Given the description of an element on the screen output the (x, y) to click on. 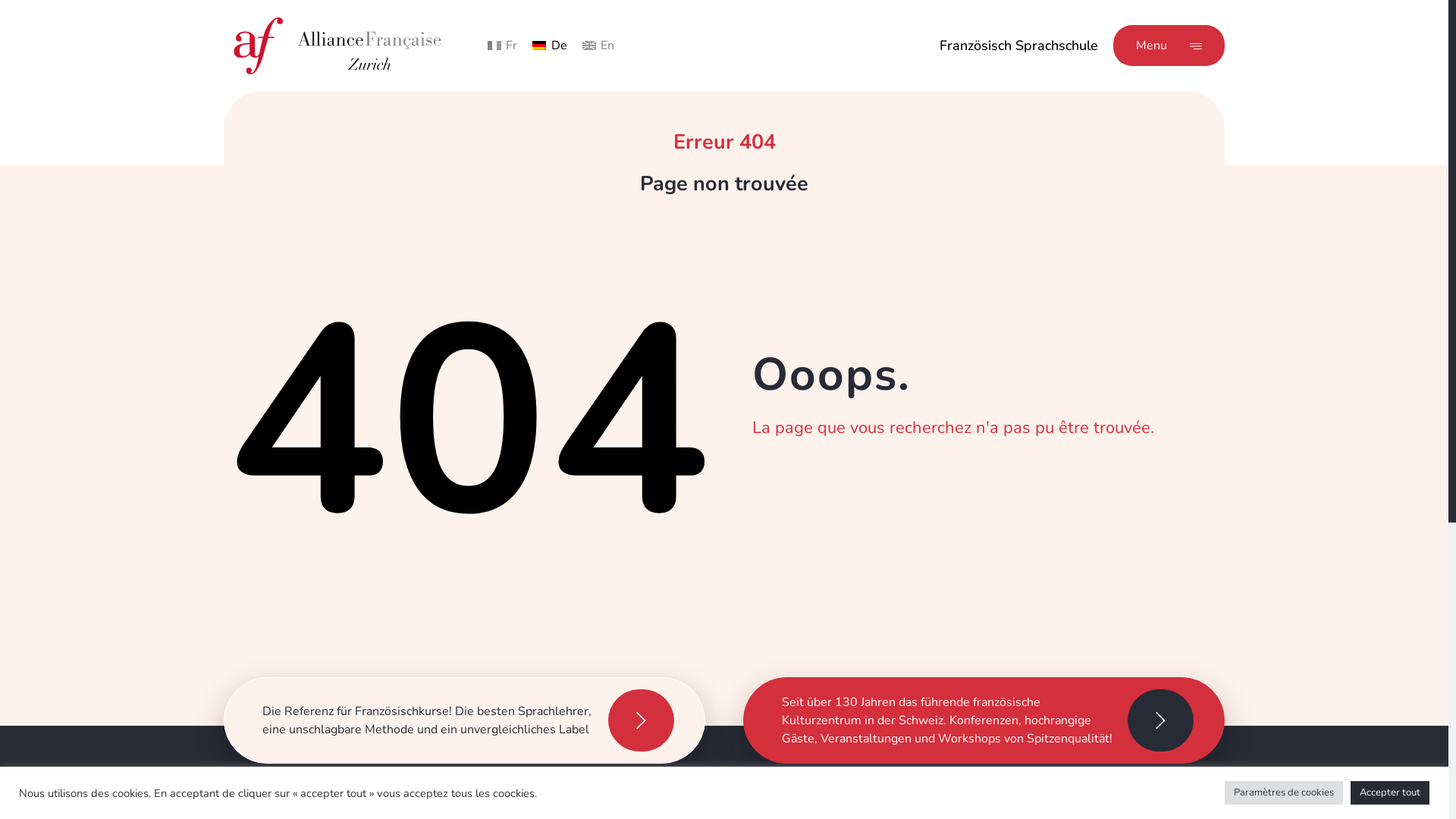
Fr Element type: text (502, 45)
En Element type: text (597, 45)
Menu Element type: text (1168, 45)
De Element type: text (549, 45)
Accepter tout Element type: text (1389, 792)
